Given the description of an element on the screen output the (x, y) to click on. 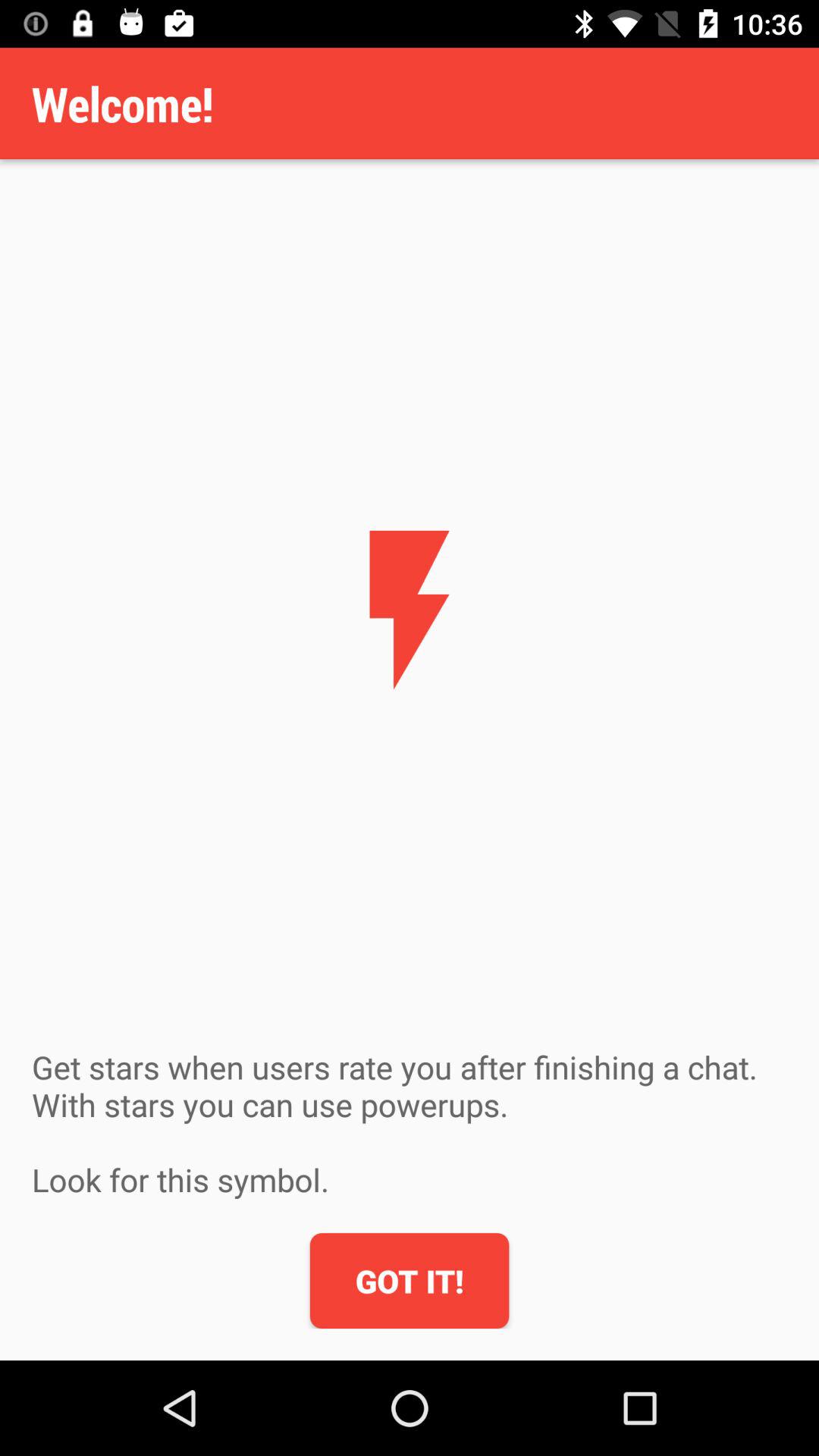
open icon below the get stars when item (409, 1280)
